Given the description of an element on the screen output the (x, y) to click on. 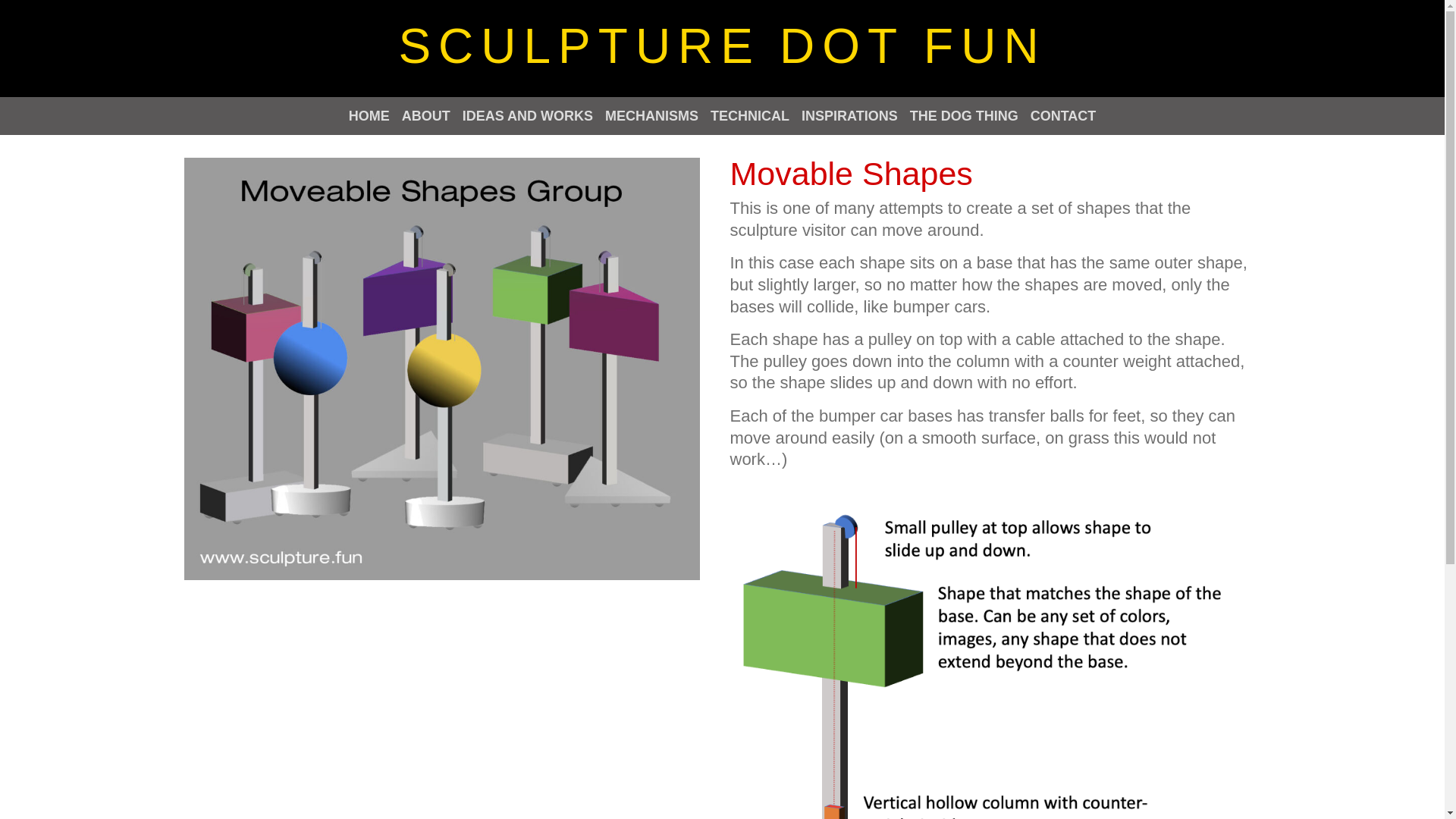
INSPIRATIONS (850, 115)
IDEAS AND WORKS (527, 115)
TECHNICAL (749, 115)
THE DOG THING (963, 115)
FUN (984, 45)
HOME (369, 115)
SCULPTURE (578, 45)
CONTACT (1063, 115)
MECHANISMS (651, 115)
ABOUT (425, 115)
